Given the description of an element on the screen output the (x, y) to click on. 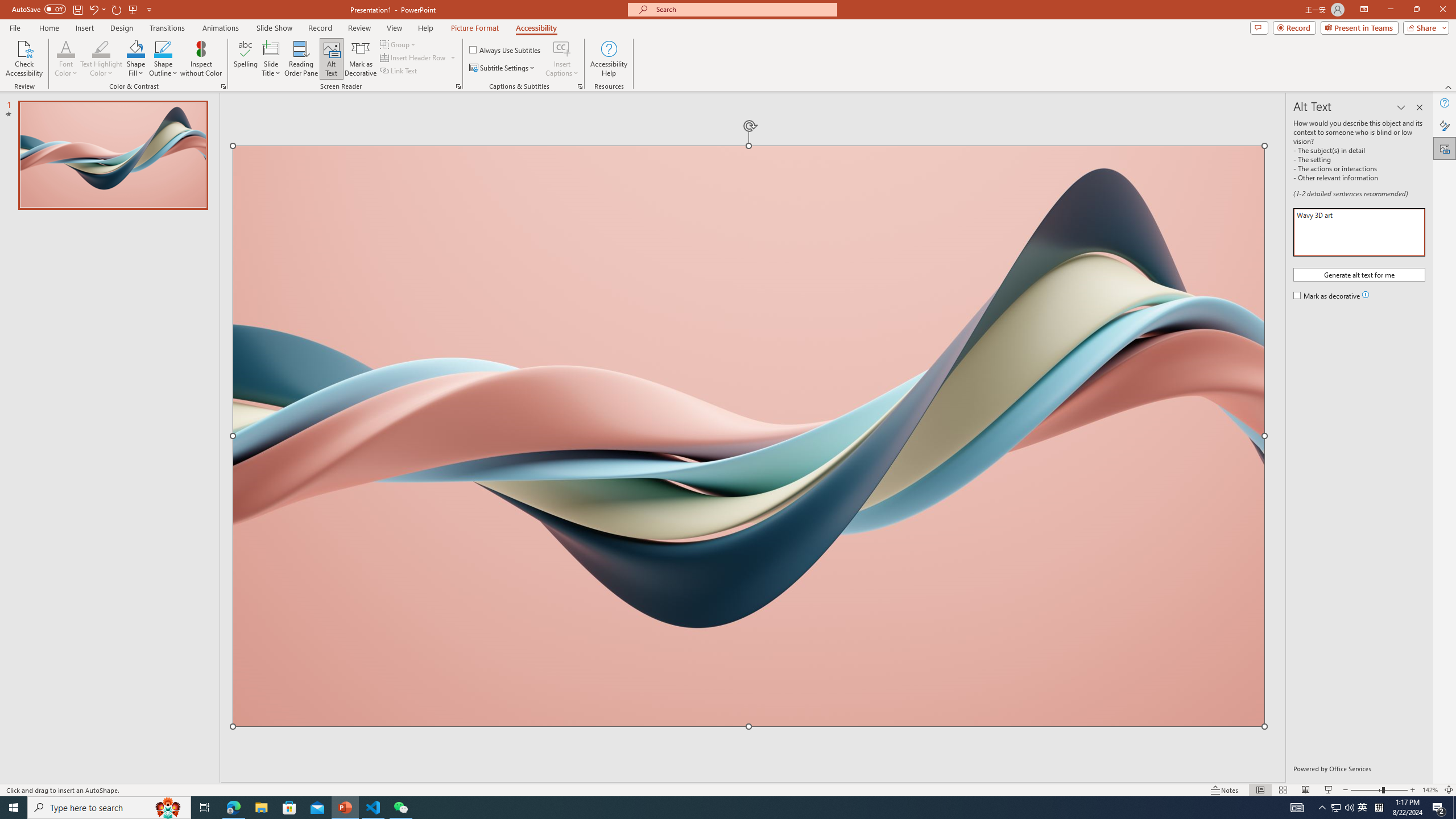
Link Text (399, 69)
Description (1358, 231)
Reading Order Pane (301, 58)
